Given the description of an element on the screen output the (x, y) to click on. 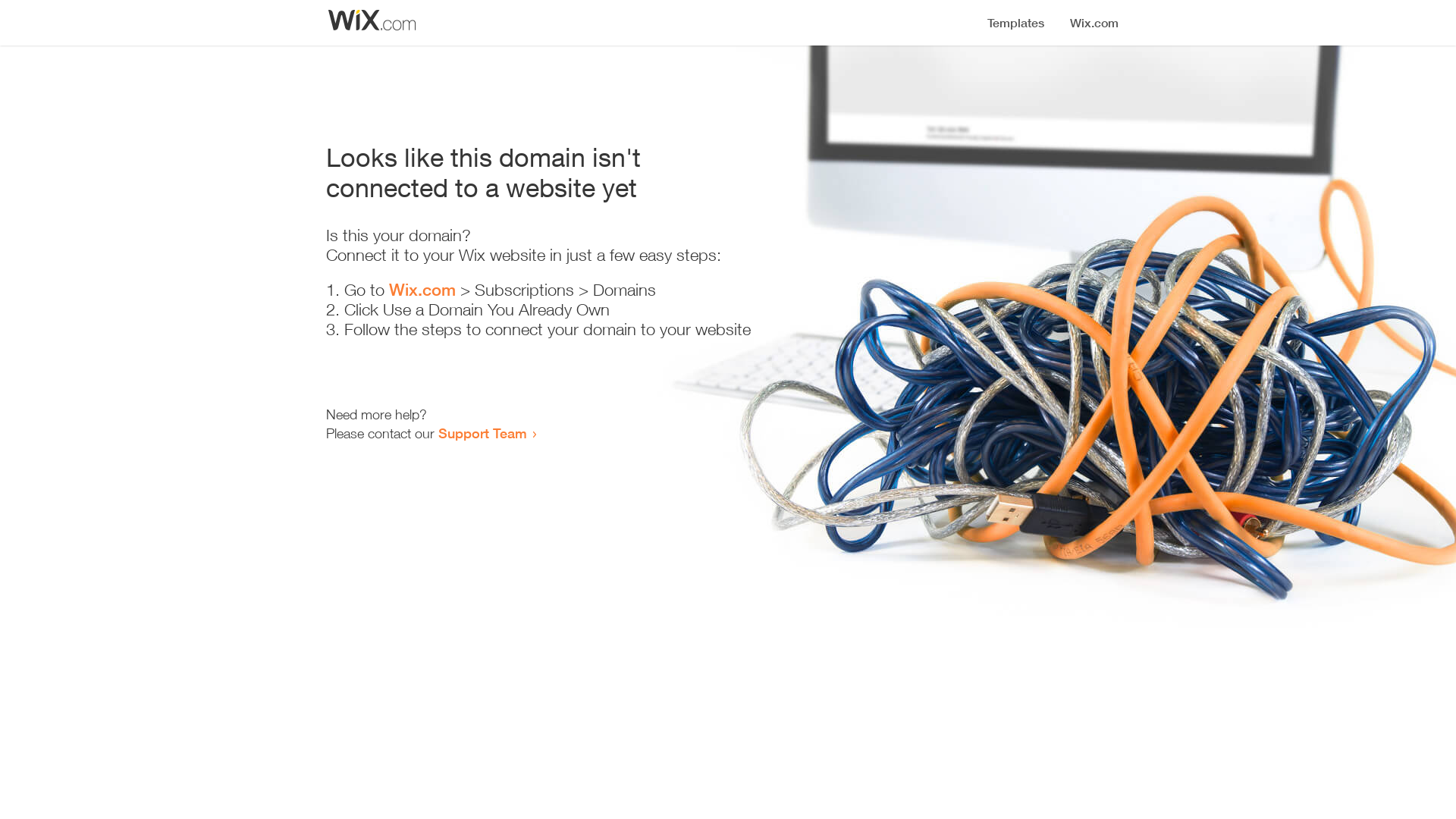
Support Team Element type: text (482, 432)
Wix.com Element type: text (422, 289)
